Given the description of an element on the screen output the (x, y) to click on. 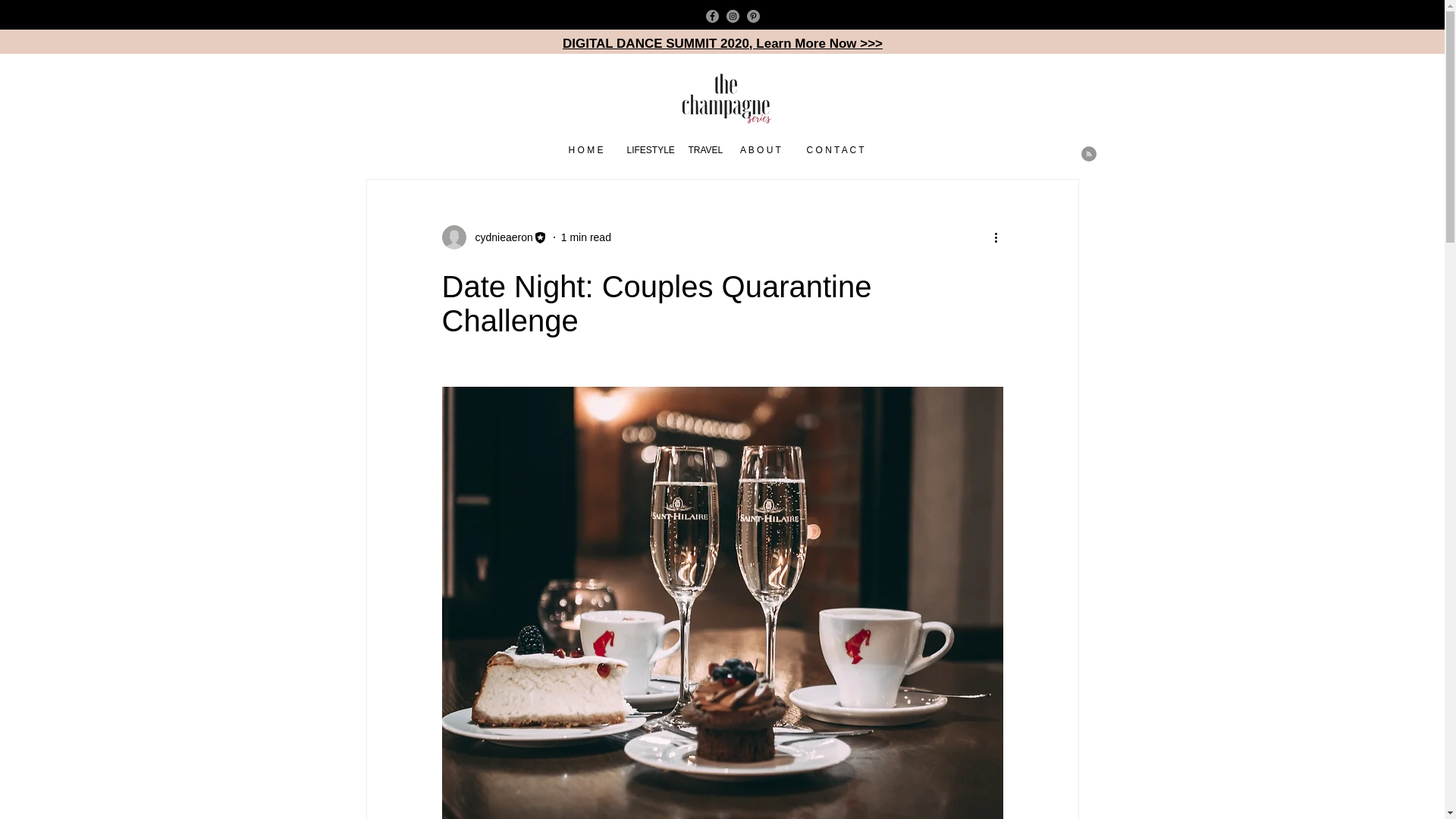
cydnieaeron (498, 236)
1 min read (585, 236)
A B O U T (760, 150)
H O M E (585, 150)
C O N T A C T (835, 150)
